Given the description of an element on the screen output the (x, y) to click on. 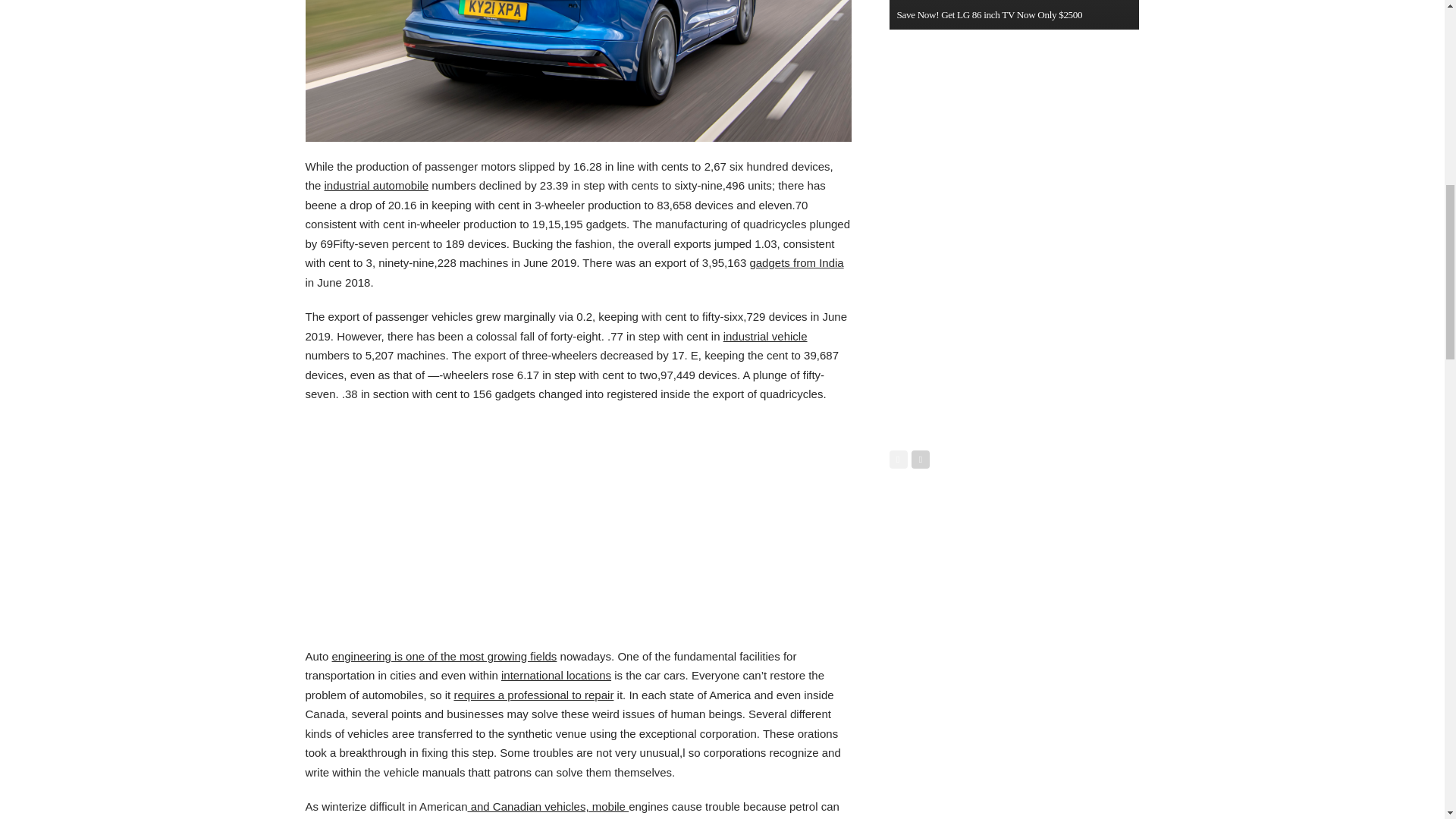
Advertisement (577, 525)
